Given the description of an element on the screen output the (x, y) to click on. 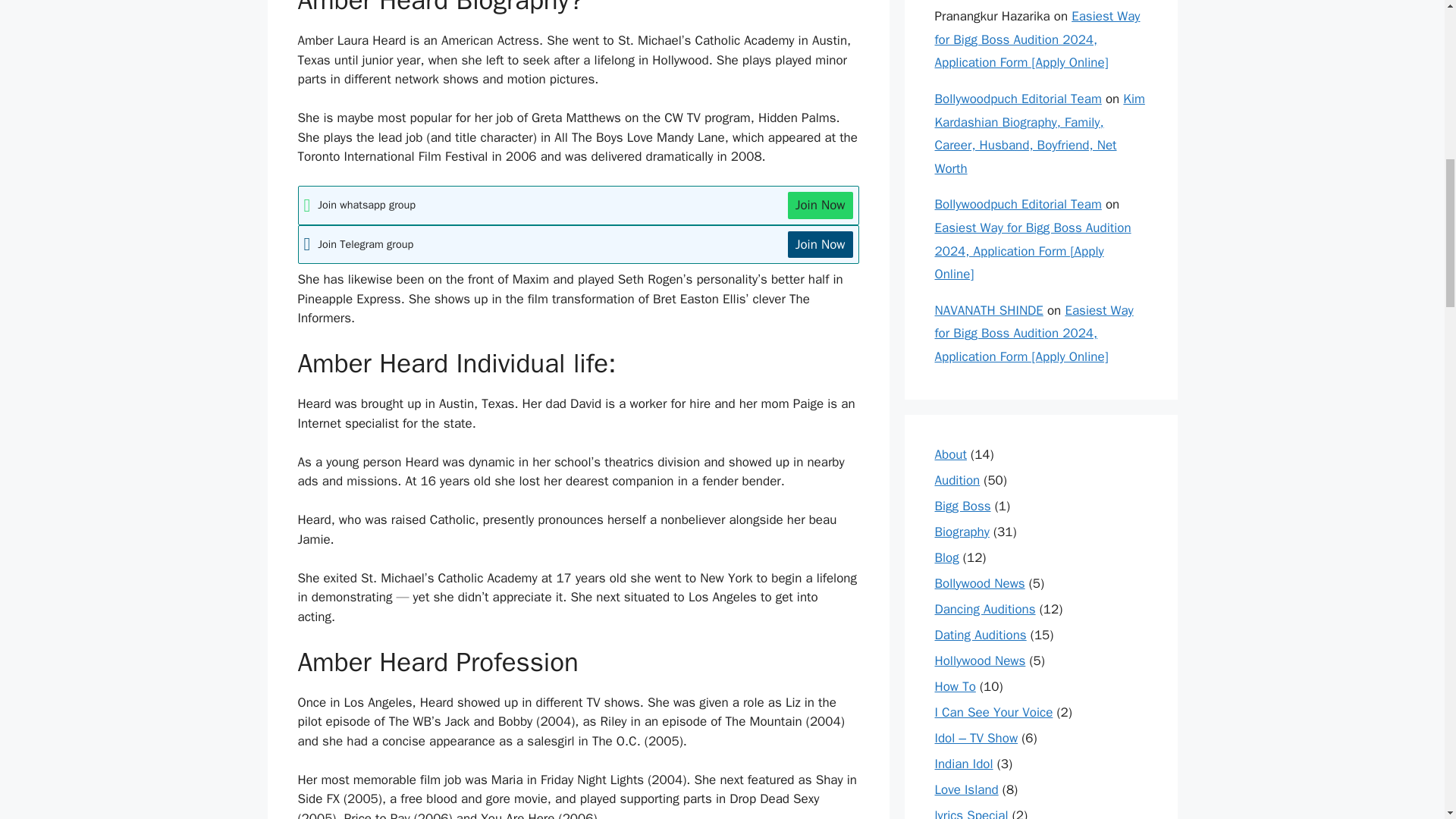
Scroll back to top (1406, 720)
Join Now (820, 205)
Join Now (820, 244)
